Given the description of an element on the screen output the (x, y) to click on. 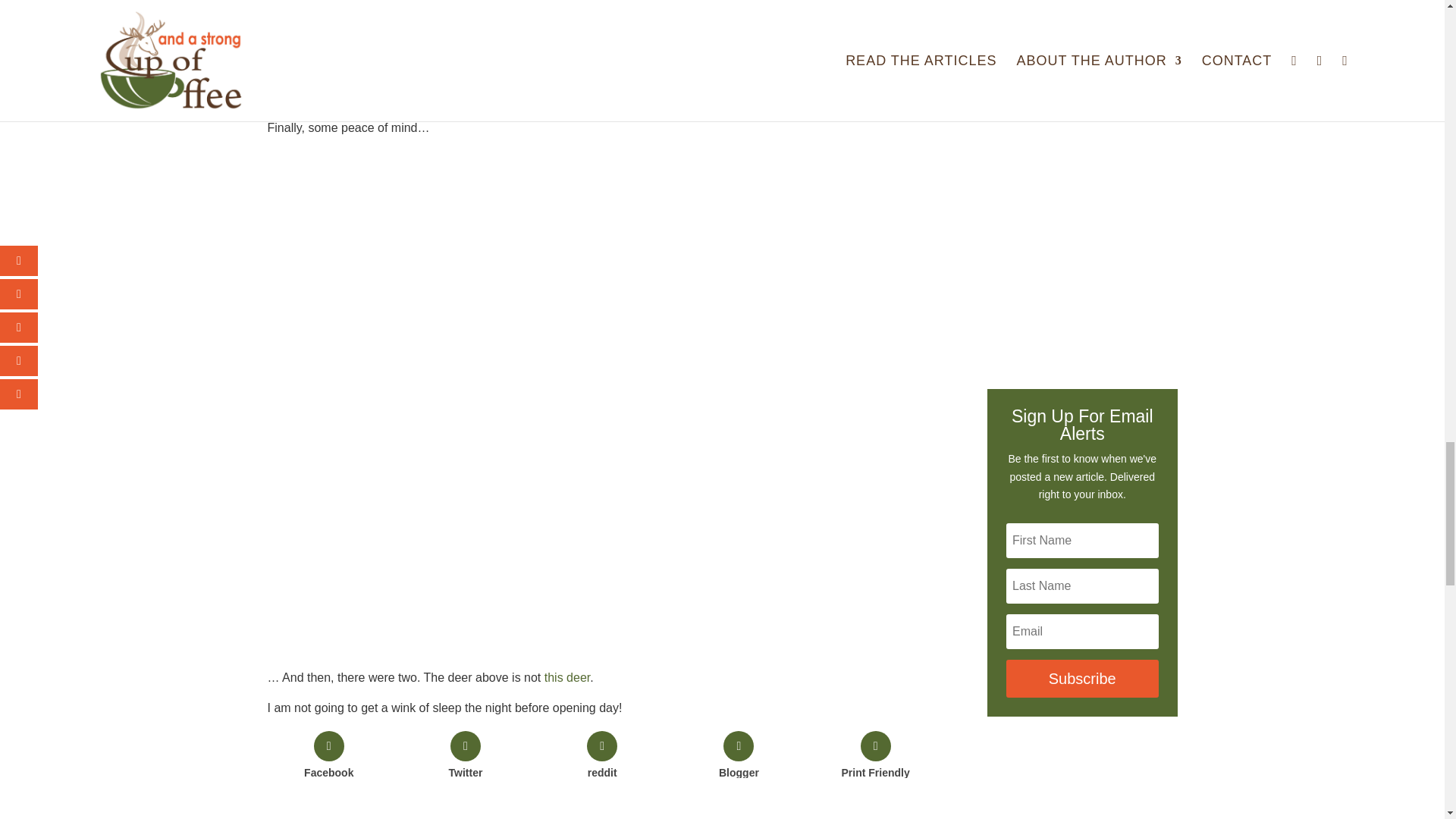
Facebook (328, 754)
Blogger (738, 754)
reddit (601, 754)
Print Friendly (875, 754)
On-X-Hunt (1082, 102)
Twitter (465, 754)
this deer (566, 676)
